Given the description of an element on the screen output the (x, y) to click on. 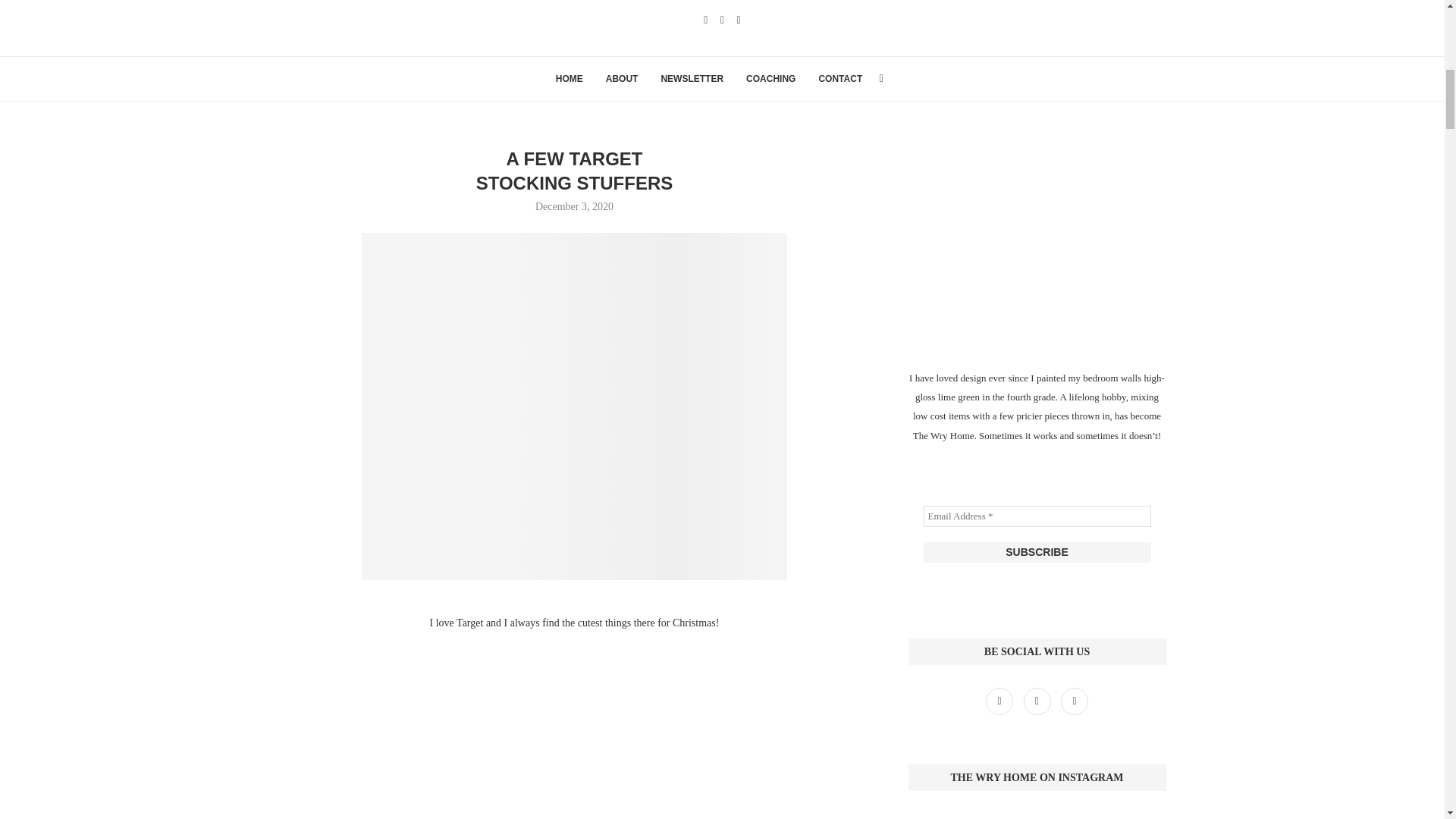
Email Address (1037, 516)
SUBSCRIBE (1037, 552)
NEWSLETTER (692, 78)
COACHING (769, 78)
CONTACT (839, 78)
